Given the description of an element on the screen output the (x, y) to click on. 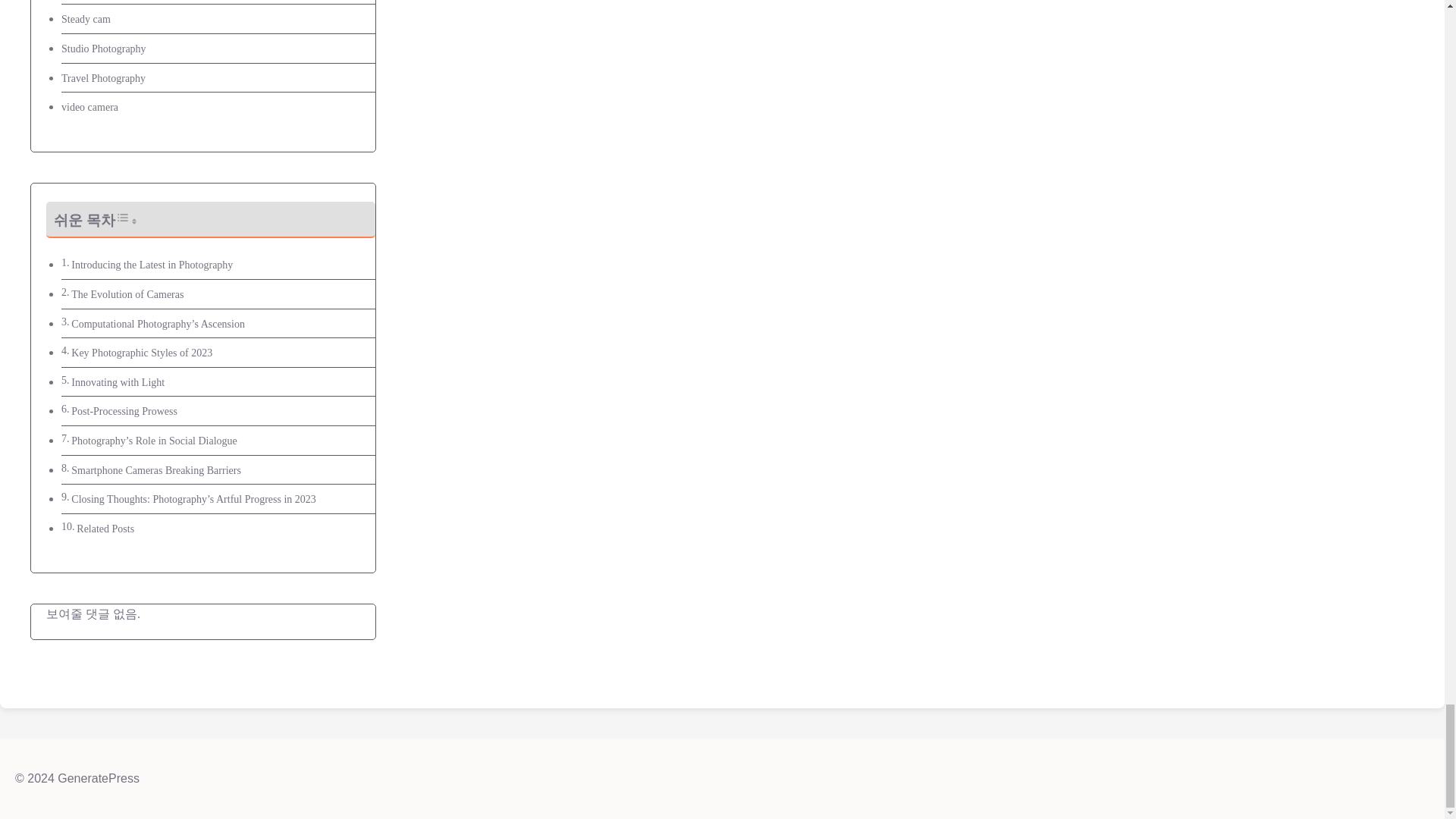
The Evolution of Cameras (127, 294)
Introducing the Latest in Photography (151, 265)
Innovating with Light (117, 382)
Key Photographic Styles of 2023 (141, 352)
